Given the description of an element on the screen output the (x, y) to click on. 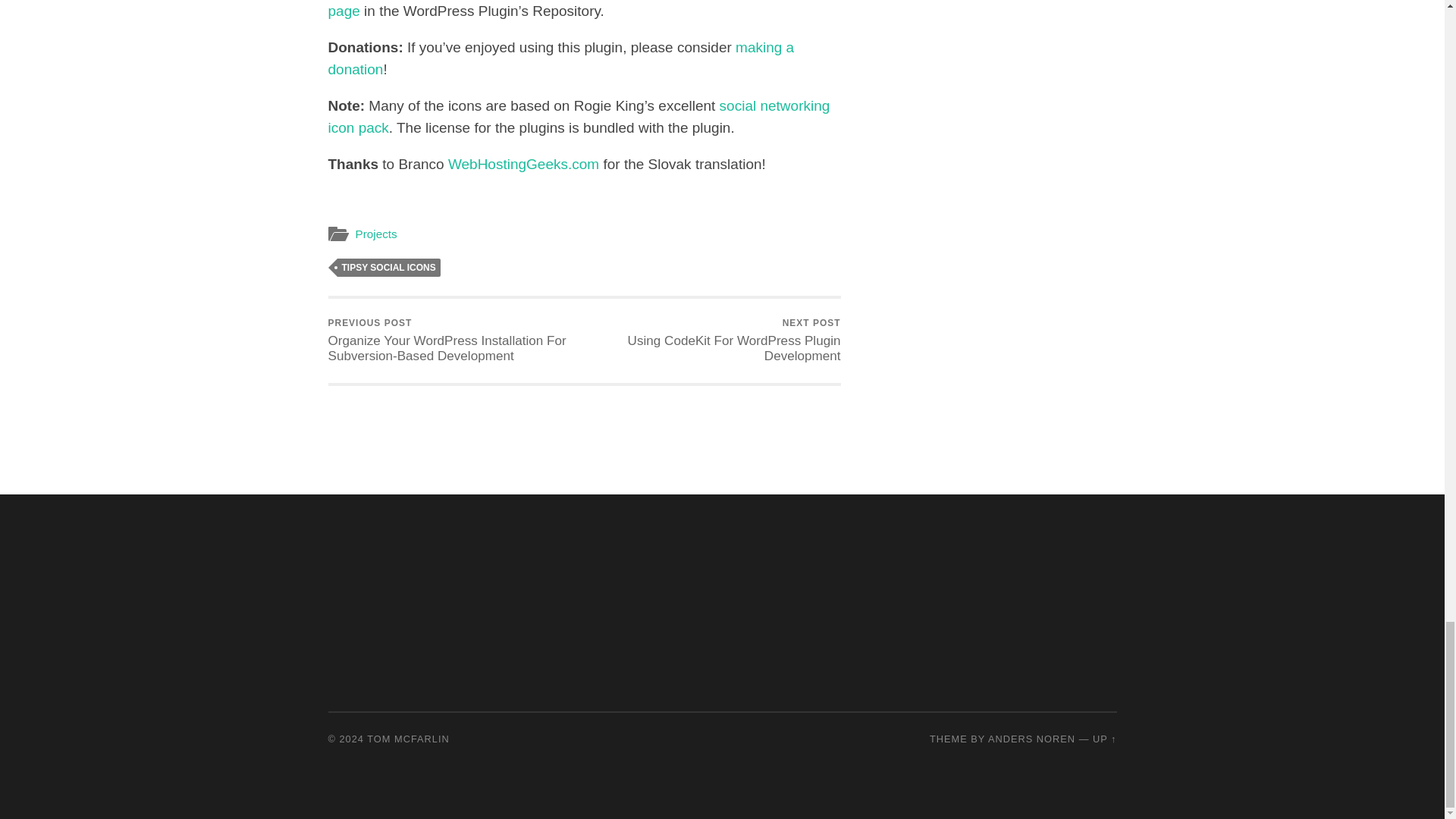
making a donation (560, 57)
To the top (1104, 738)
TIPSY SOCIAL ICONS (387, 267)
WebHostingGeeks.com (523, 163)
Projects (375, 233)
social networking icon pack (578, 116)
